Given the description of an element on the screen output the (x, y) to click on. 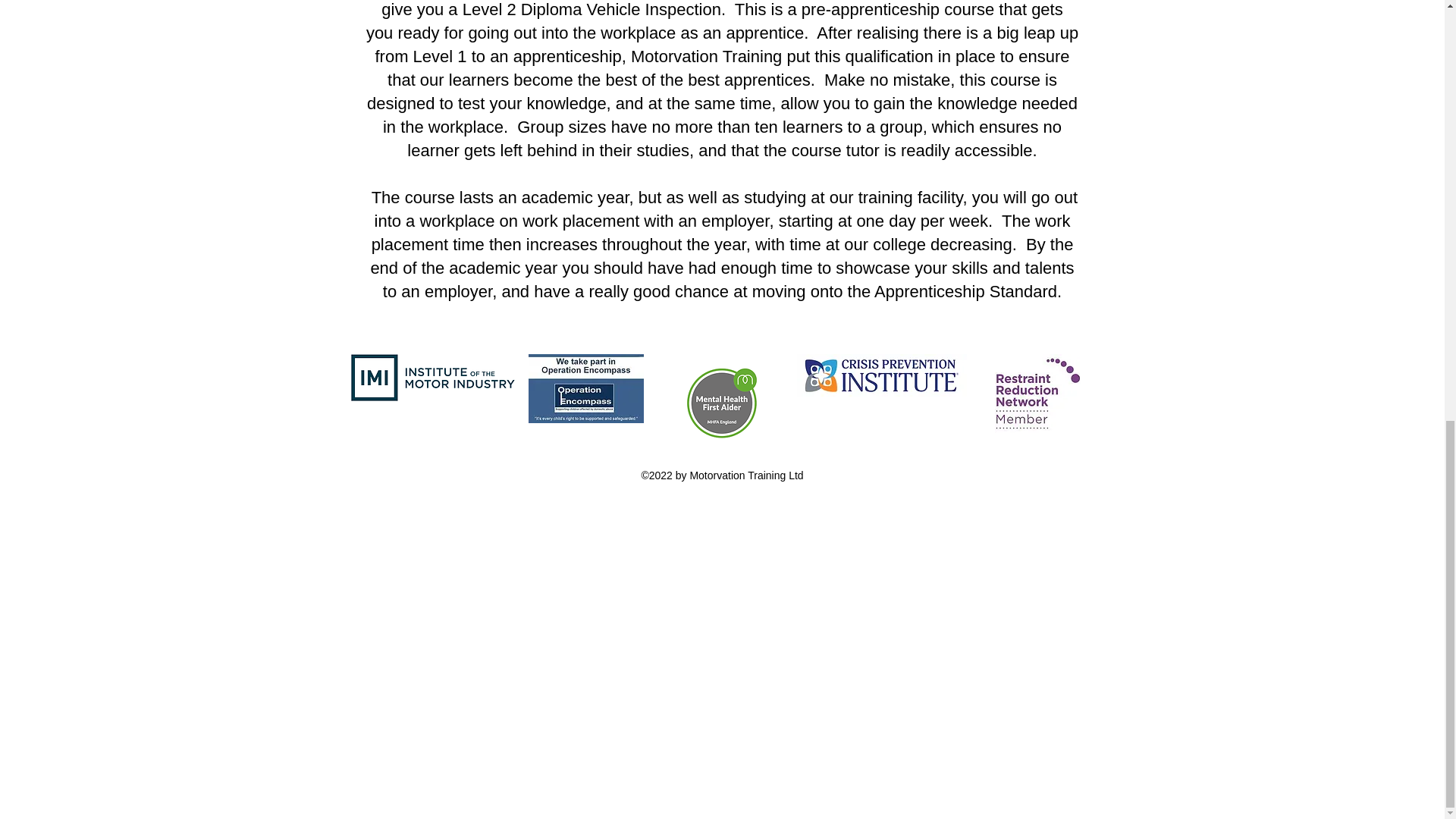
Operation Encompass.jpg (585, 388)
CPI Mapa.png (881, 374)
Mental Health First Aid.png (721, 399)
The IMI Logo.png (434, 377)
